Given the description of an element on the screen output the (x, y) to click on. 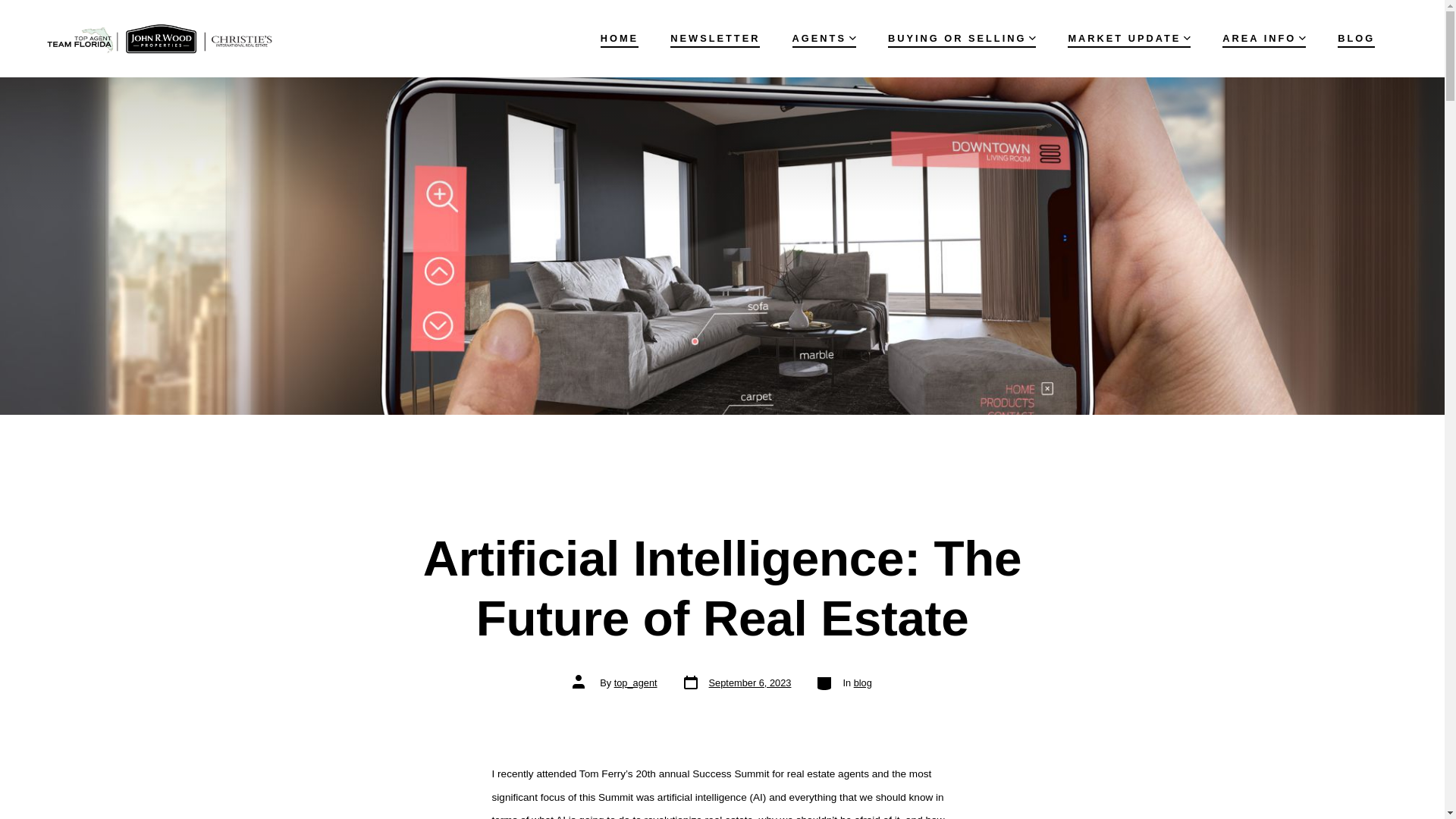
blog (862, 682)
BUYING OR SELLING (736, 683)
AGENTS (961, 38)
HOME (824, 38)
MARKET UPDATE (619, 38)
BLOG (1129, 38)
NEWSLETTER (1356, 38)
AREA INFO (714, 38)
